Given the description of an element on the screen output the (x, y) to click on. 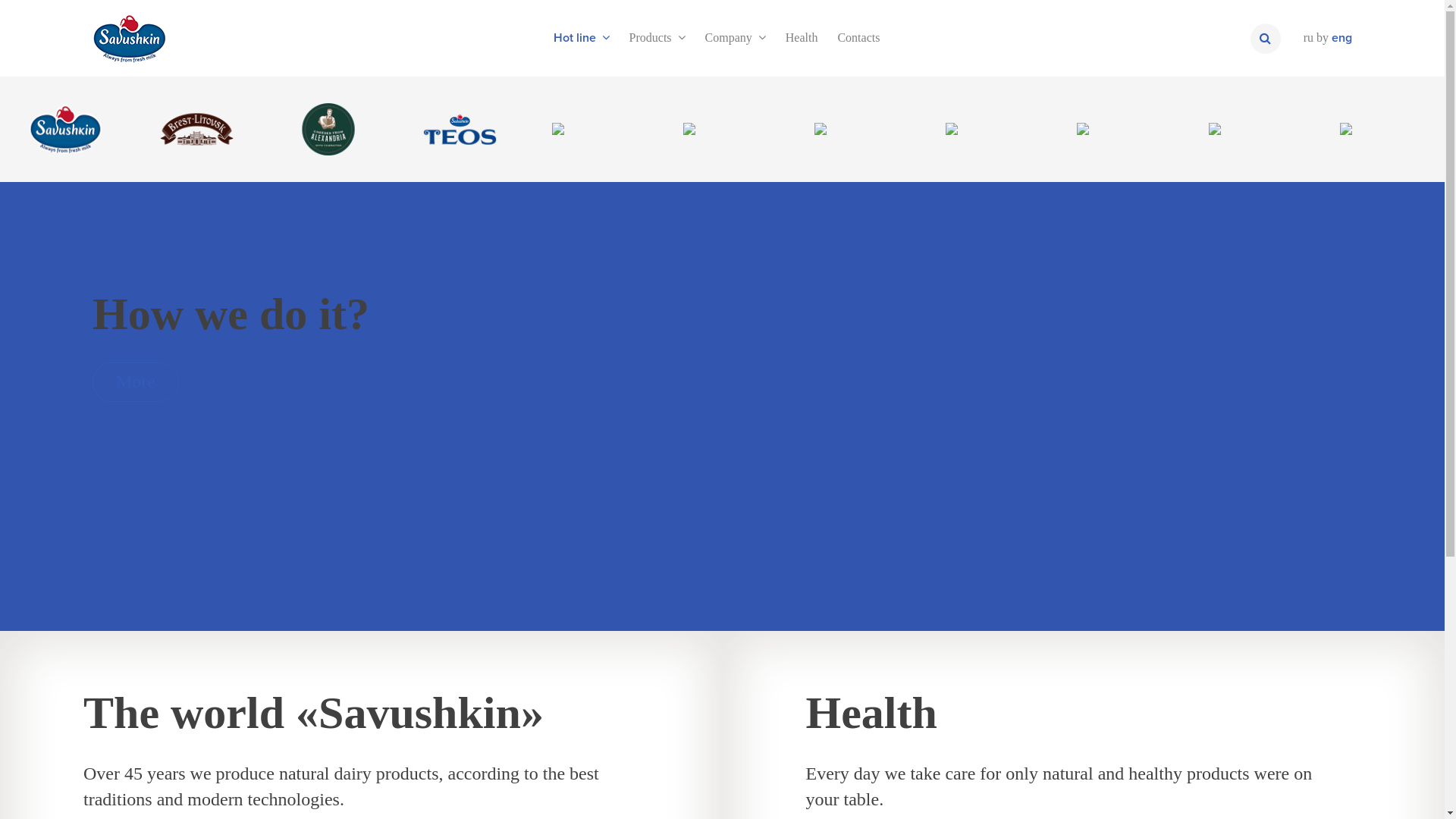
Aktivil Element type: hover (1115, 129)
eng Element type: text (1341, 37)
ru Element type: text (1308, 37)
by Element type: text (1322, 37)
Optimal Element type: hover (721, 129)
Brest-Litovsk Element type: hover (196, 129)
Brest-Litovsk Element type: hover (196, 129)
Laskovoe leto Element type: hover (1378, 129)
Aleksandriya Element type: hover (327, 129)
Savushkin Element type: hover (65, 129)
Savushkin_logo_eng.png Element type: hover (129, 37)
Optimal Element type: hover (722, 128)
TEOS Element type: hover (459, 129)
Contacts Element type: text (858, 37)
Savushkin Element type: hover (65, 129)
Aktivil Element type: hover (1115, 128)
TEOS Element type: hover (459, 129)
Laskovoe leto Element type: hover (1378, 128)
SuperKid Element type: hover (1247, 128)
SuperKid Element type: hover (1247, 129)
Hot line Element type: text (581, 37)
Company Element type: text (735, 37)
Byarozka Element type: hover (590, 129)
Byarozka Element type: hover (591, 128)
Apeti Element type: hover (853, 129)
More Element type: text (135, 381)
Products Element type: text (657, 37)
Aleksandriya Element type: hover (327, 129)
Apeti Element type: hover (853, 128)
Health Element type: text (801, 37)
